Given the description of an element on the screen output the (x, y) to click on. 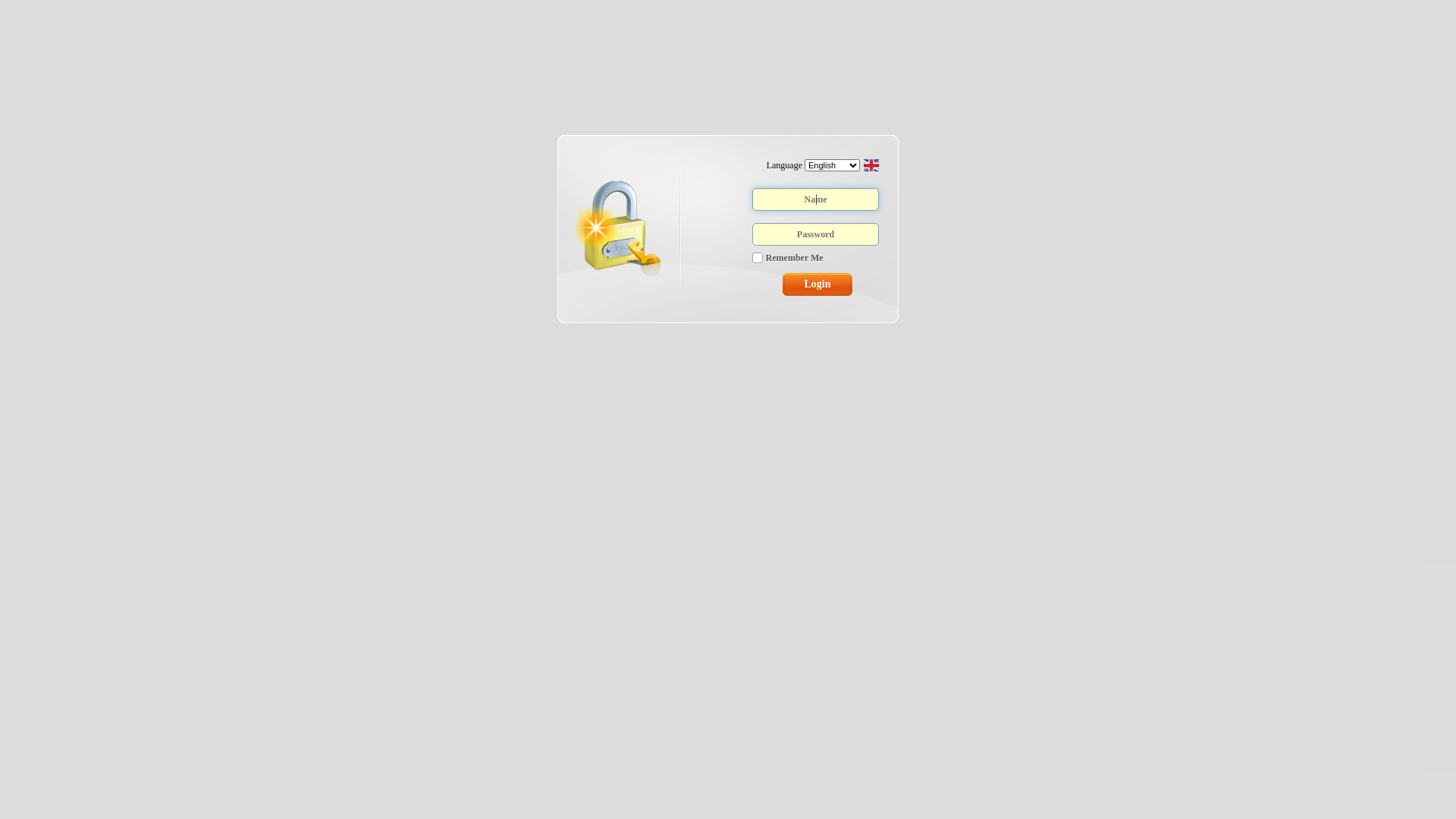
Login Element type: text (817, 284)
